Given the description of an element on the screen output the (x, y) to click on. 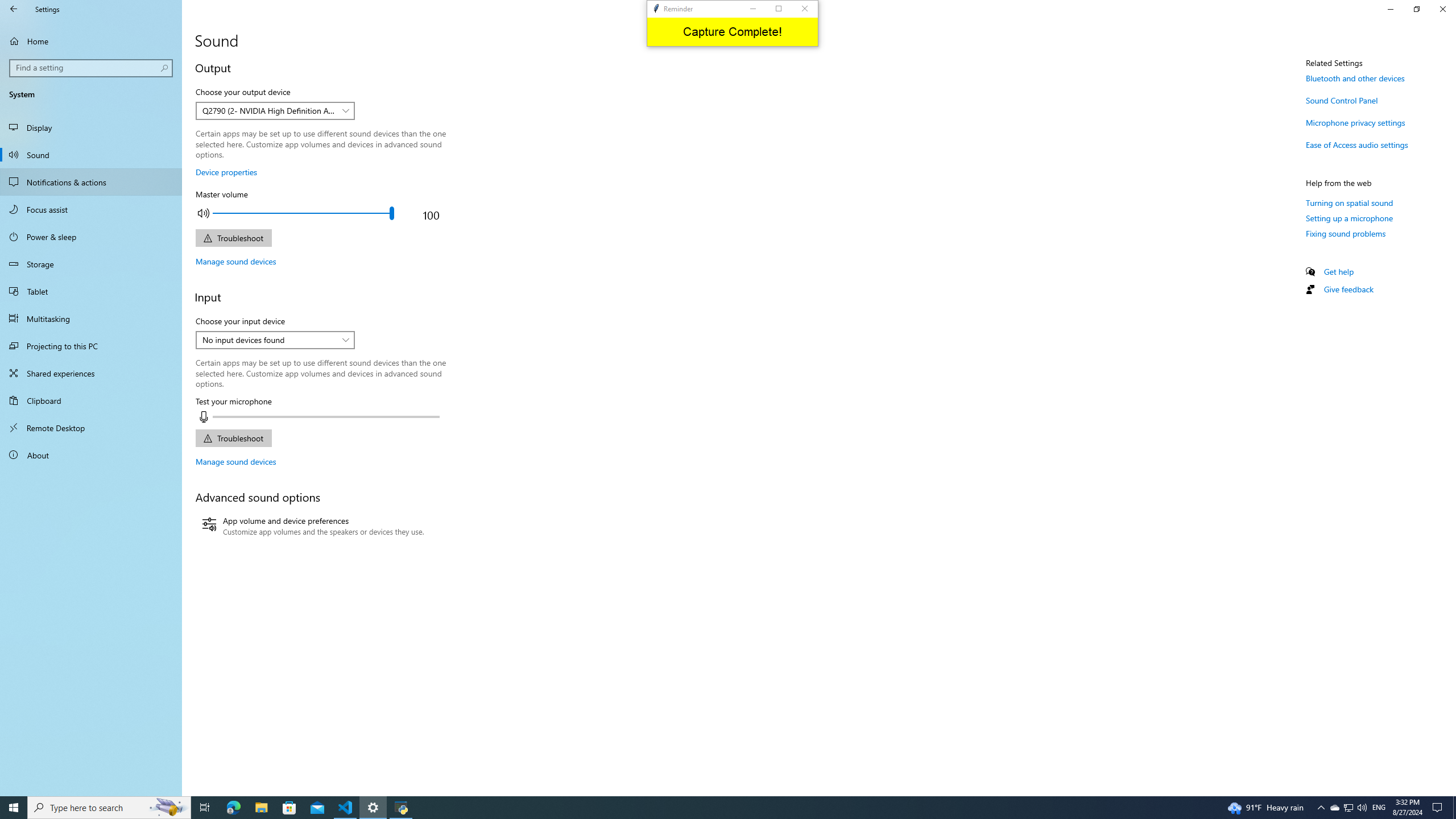
Remote Desktop (91, 427)
Microphone privacy settings (1355, 122)
Ease of Access audio settings (1356, 144)
Input device troubleshoot (233, 438)
Mute master volume (203, 213)
Power & sleep (91, 236)
Tablet (91, 290)
